Given the description of an element on the screen output the (x, y) to click on. 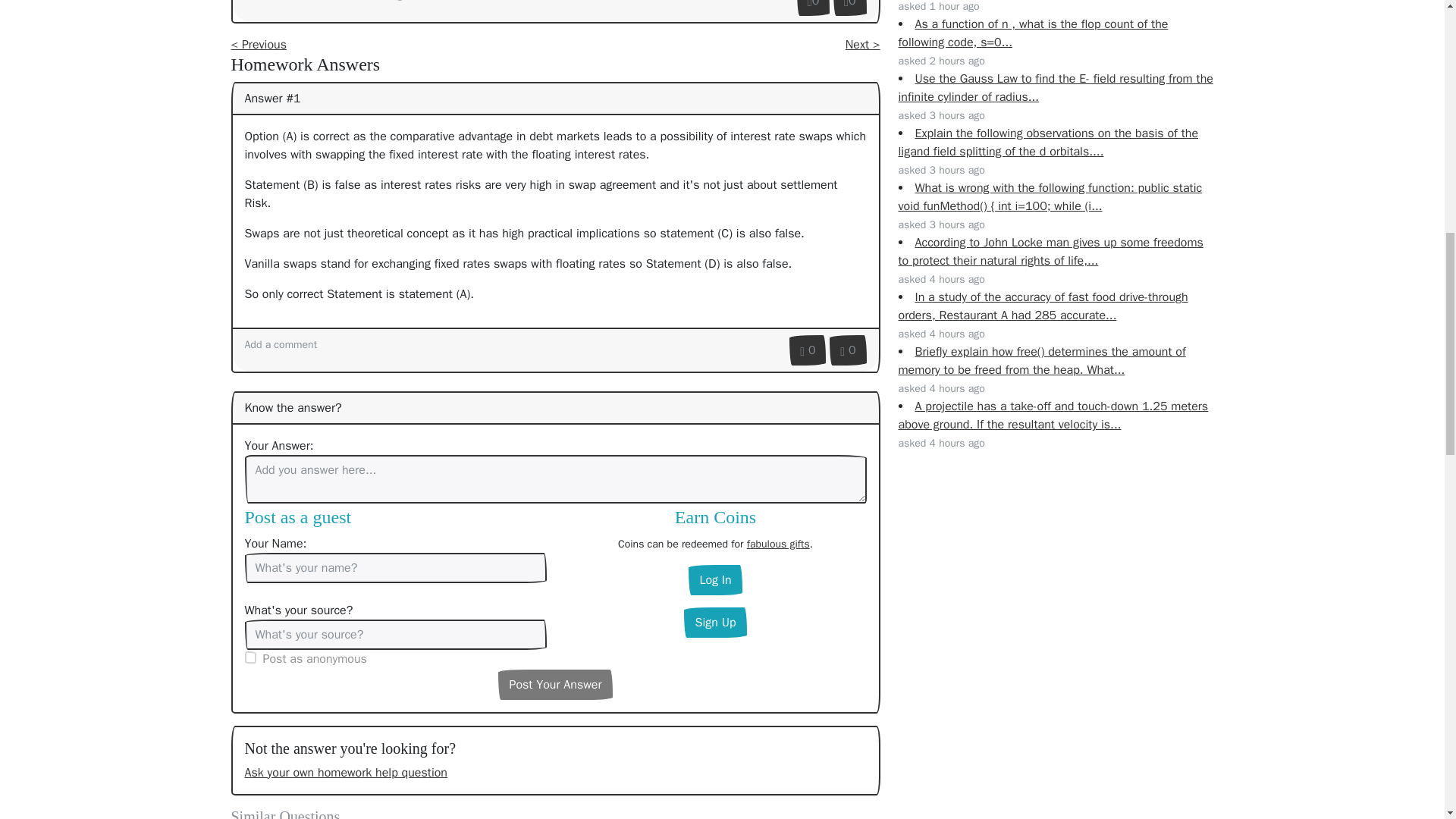
Sign Up (714, 622)
This is unclear or not useful (847, 349)
This is useful and clear (807, 349)
Ask your own homework help question (345, 772)
0 (812, 7)
Transcribed image text (375, 0)
This is useful (812, 7)
fabulous gifts (777, 543)
Add a comment (280, 0)
This is not useful (849, 7)
0 (847, 349)
0 (849, 7)
0 (807, 349)
Log In (714, 580)
Post Your Answer (554, 684)
